Given the description of an element on the screen output the (x, y) to click on. 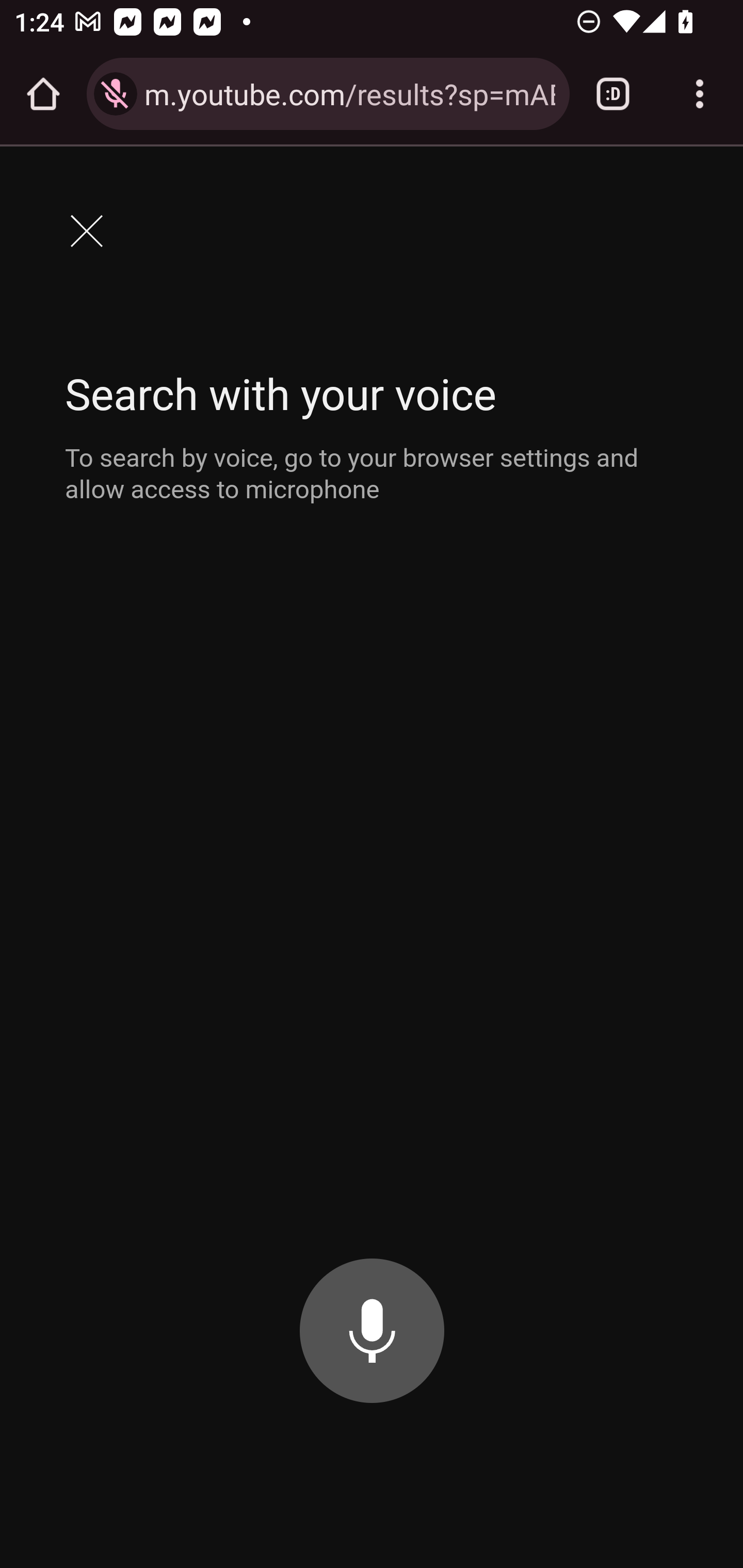
Open the home page (43, 93)
Connection is secure (115, 93)
Switch or close tabs (612, 93)
Customize and control Google Chrome (699, 93)
Cancel (86, 230)
